Given the description of an element on the screen output the (x, y) to click on. 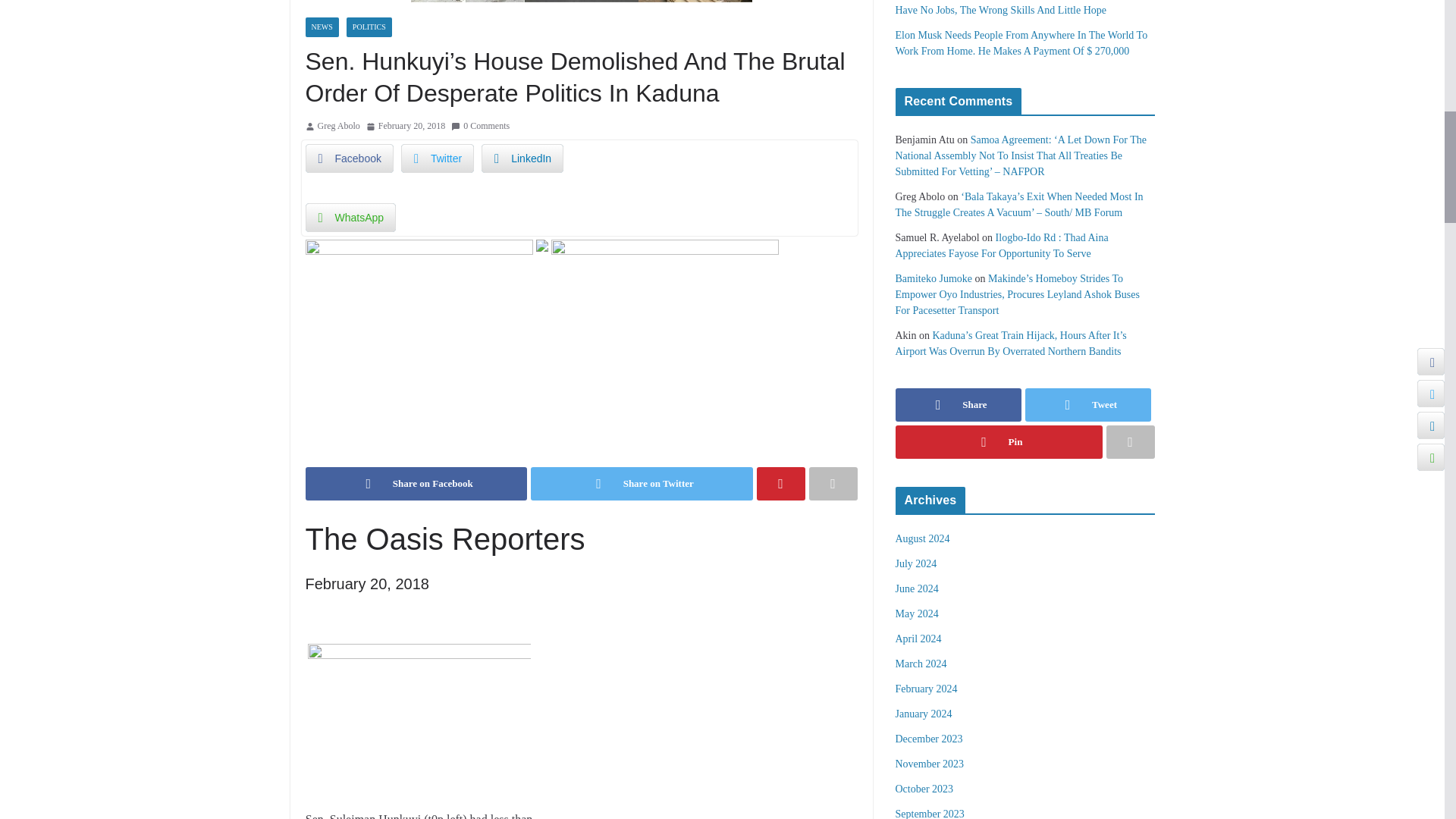
POLITICS (368, 26)
WhatsApp (350, 217)
February 20, 2018 (405, 126)
0 Comments (480, 126)
Share on Facebook (415, 483)
betalife-1 (418, 249)
11:43 am (405, 126)
Greg Abolo (338, 126)
Share on Twitter (641, 483)
Greg Abolo (338, 126)
